Given the description of an element on the screen output the (x, y) to click on. 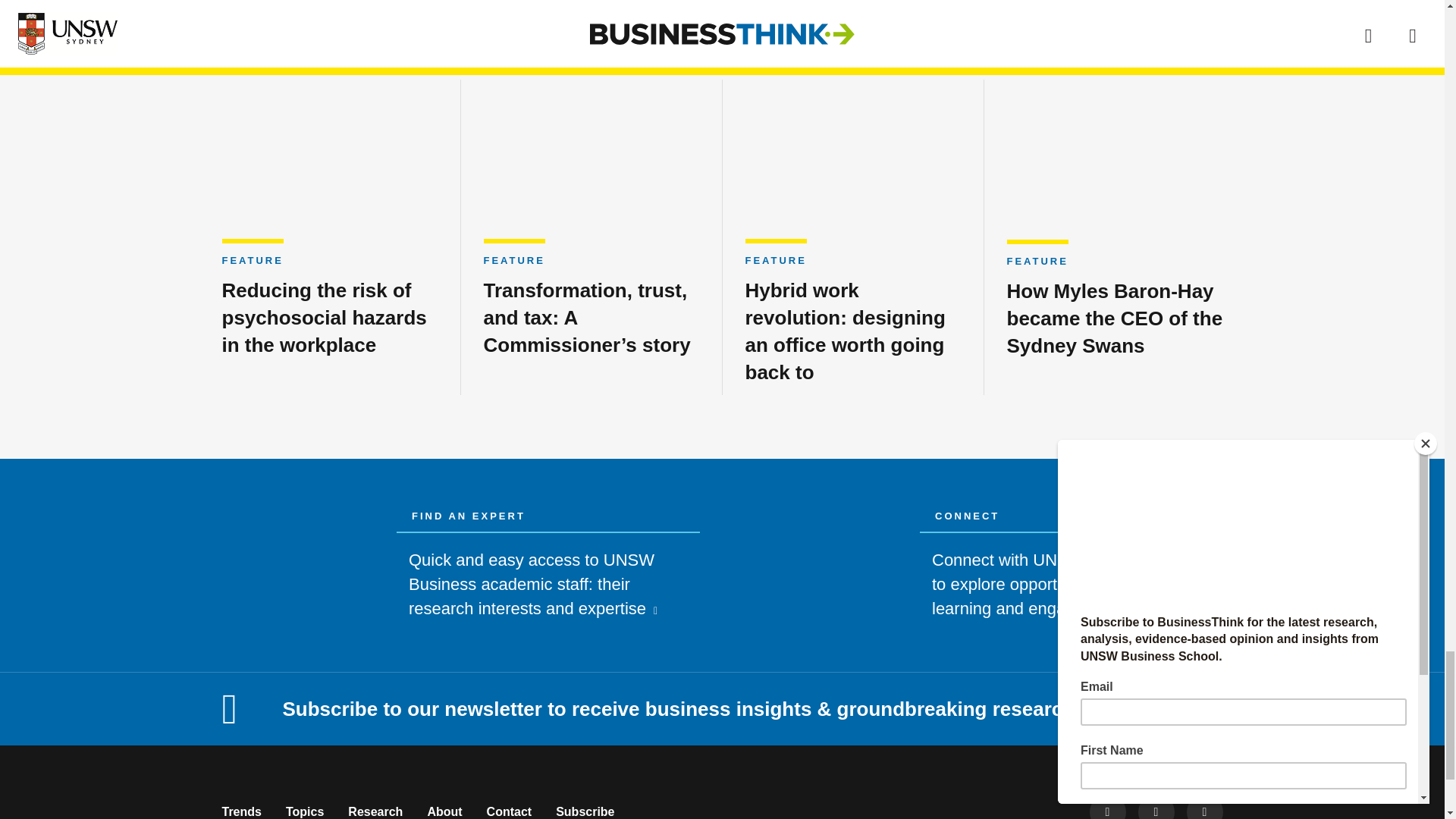
LinkedIn (1204, 806)
Youtube (1155, 806)
Facebook (1107, 806)
